Given the description of an element on the screen output the (x, y) to click on. 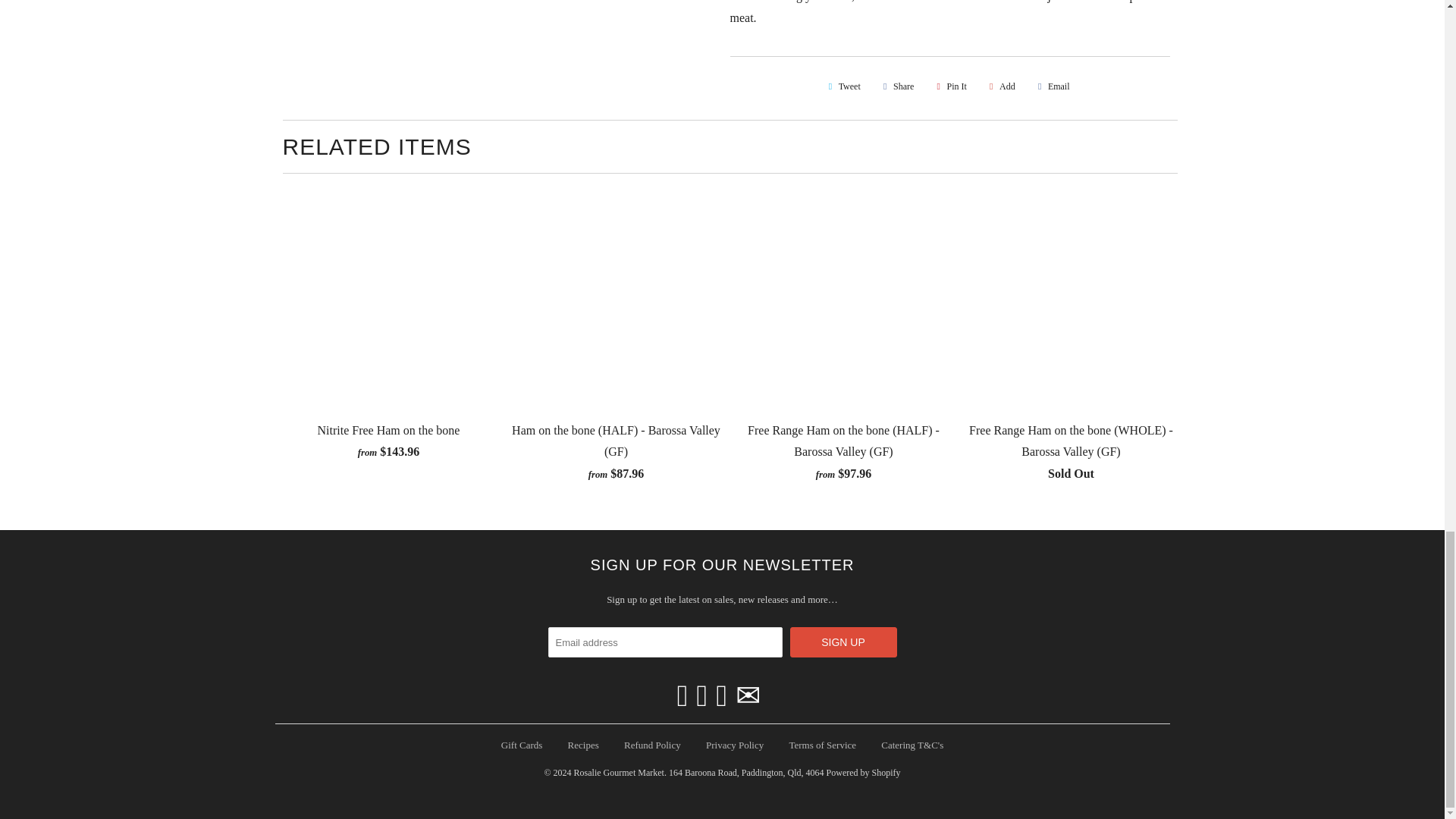
Email Rosalie Gourmet Market (748, 695)
Share this on Pinterest (949, 86)
Sign Up (843, 642)
Email this to a friend (1051, 86)
Share this on Twitter (841, 86)
Share this on Facebook (896, 86)
